Given the description of an element on the screen output the (x, y) to click on. 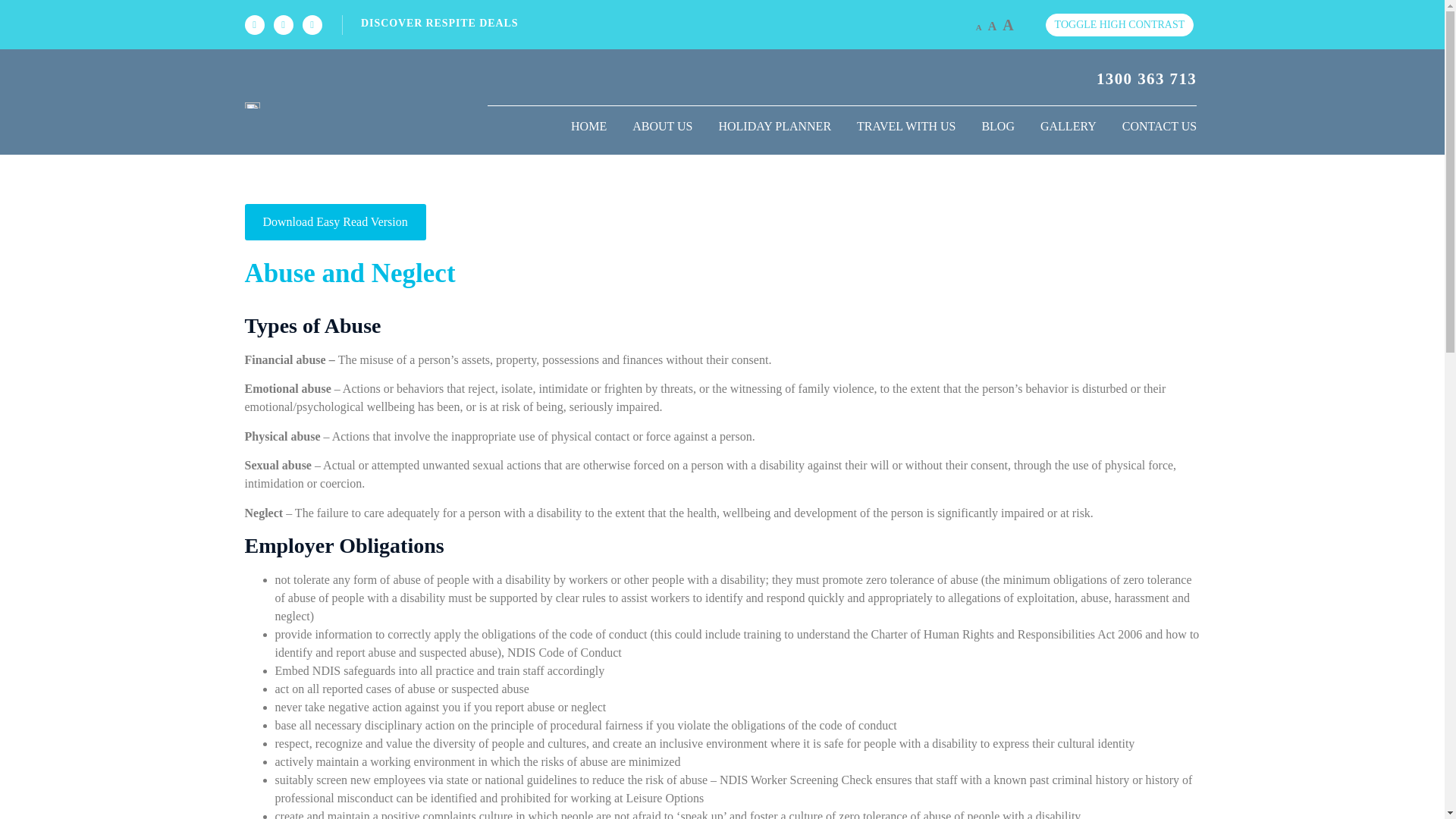
TRAVEL WITH US (906, 126)
HOME (588, 126)
GALLERY (1068, 126)
HOLIDAY PLANNER (774, 126)
CONTACT US (1152, 126)
DISCOVER RESPITE DEALS (660, 23)
ABOUT US (662, 126)
BLOG (997, 126)
TOGGLE HIGH CONTRAST (1119, 24)
